Given the description of an element on the screen output the (x, y) to click on. 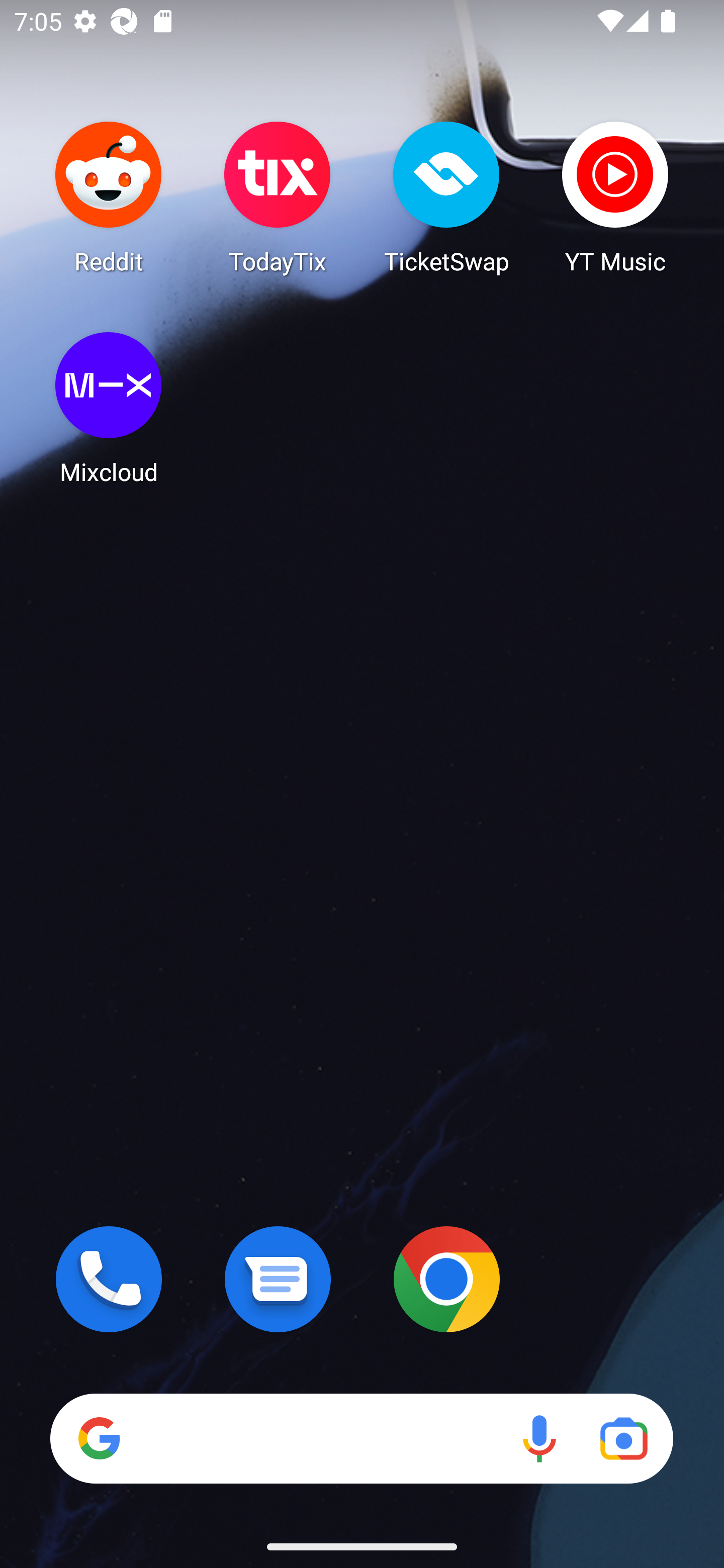
Reddit (108, 196)
TodayTix (277, 196)
TicketSwap (445, 196)
YT Music (615, 196)
Mixcloud (108, 407)
Phone (108, 1279)
Messages (277, 1279)
Chrome (446, 1279)
Voice search (539, 1438)
Google Lens (623, 1438)
